Given the description of an element on the screen output the (x, y) to click on. 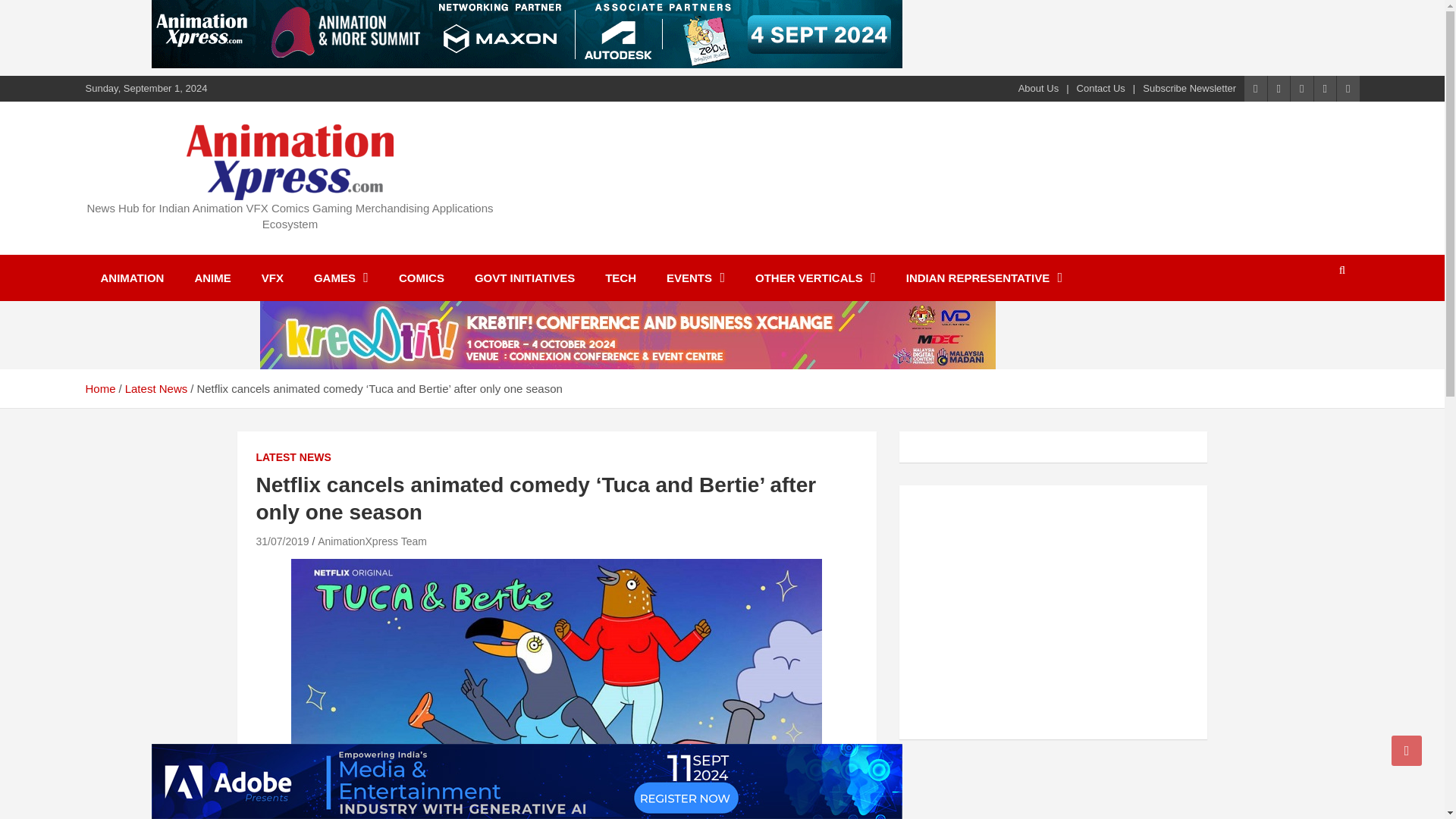
VFX (272, 277)
ANIME (212, 277)
TECH (619, 277)
EVENTS (694, 277)
YouTube video player (1024, 609)
Go to Top (1406, 750)
Subscribe Newsletter (1189, 88)
ANIMATION (131, 277)
About Us (1037, 88)
GAMES (341, 277)
